Given the description of an element on the screen output the (x, y) to click on. 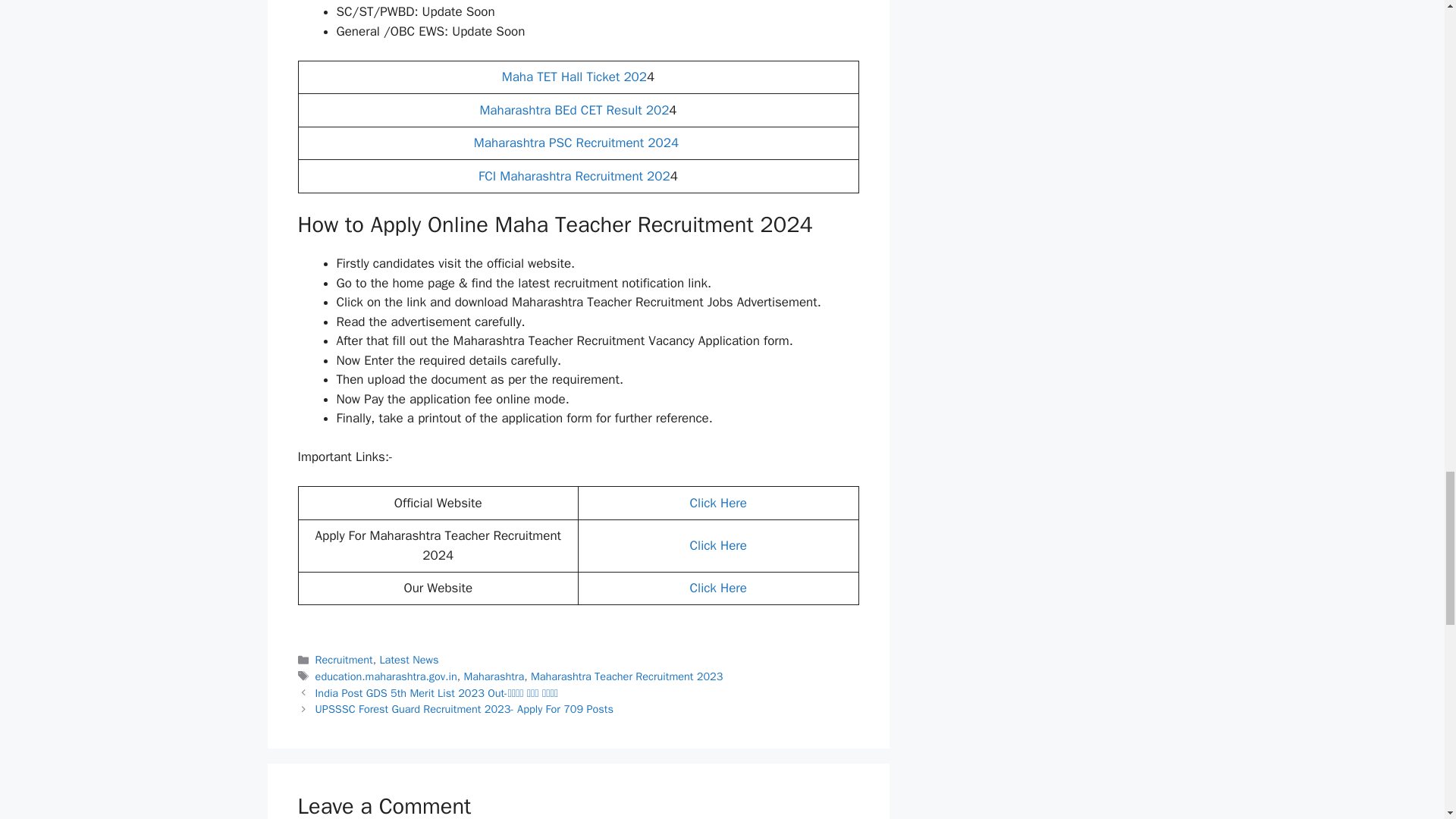
Maha TET Hall Ticket 202 (574, 76)
Click Here (718, 503)
Click Here (718, 587)
Maharashtra BEd CET Result 202 (573, 109)
Maharashtra Teacher Recruitment 2023 (626, 676)
Maharashtra (493, 676)
education.maharashtra.gov.in (386, 676)
Maharashtra PSC Recruitment 2024  (578, 142)
Recruitment (343, 659)
Click Here (718, 545)
